Given the description of an element on the screen output the (x, y) to click on. 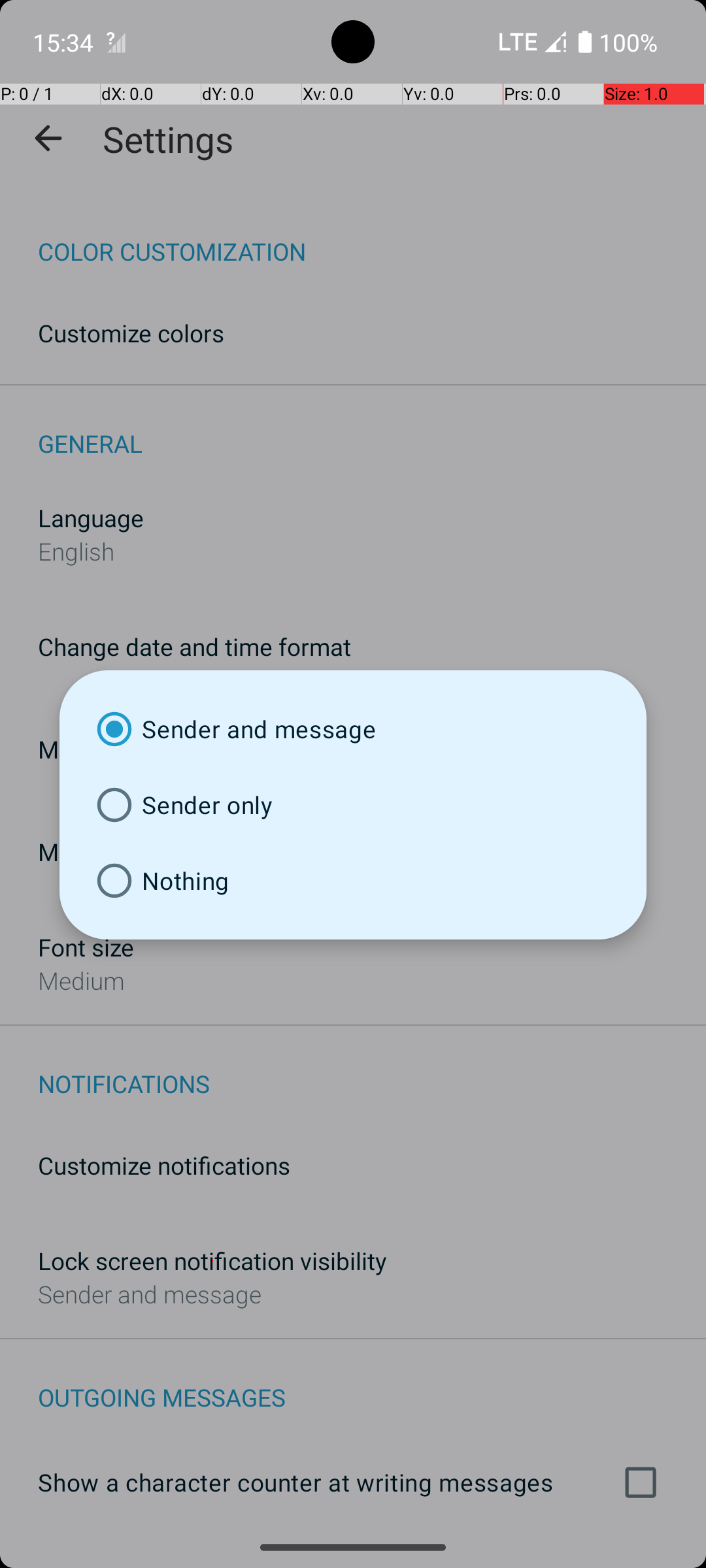
Sender and message Element type: android.widget.RadioButton (352, 729)
Sender only Element type: android.widget.RadioButton (352, 804)
Nothing Element type: android.widget.RadioButton (352, 880)
